Given the description of an element on the screen output the (x, y) to click on. 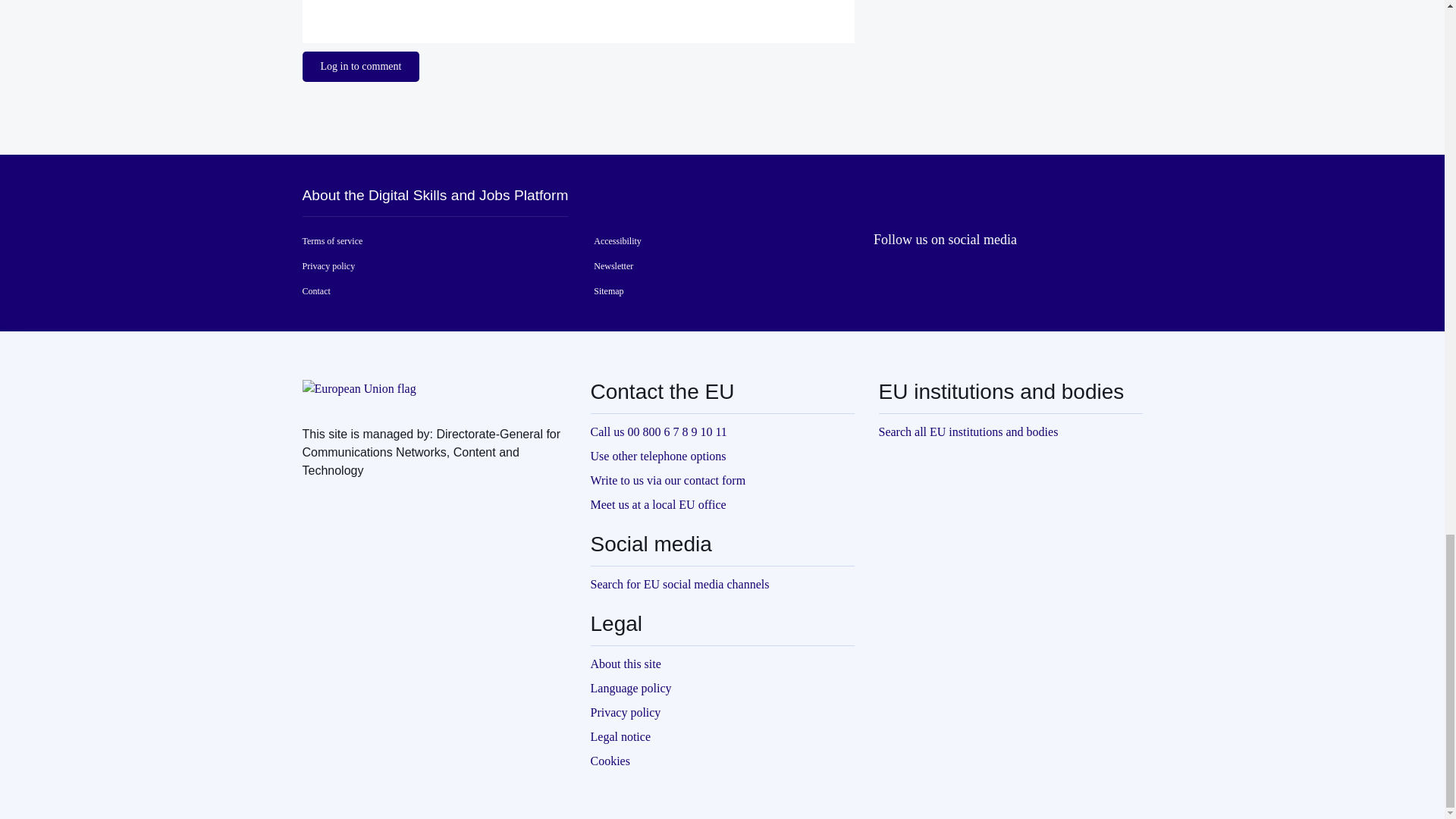
European Union (357, 396)
